Given the description of an element on the screen output the (x, y) to click on. 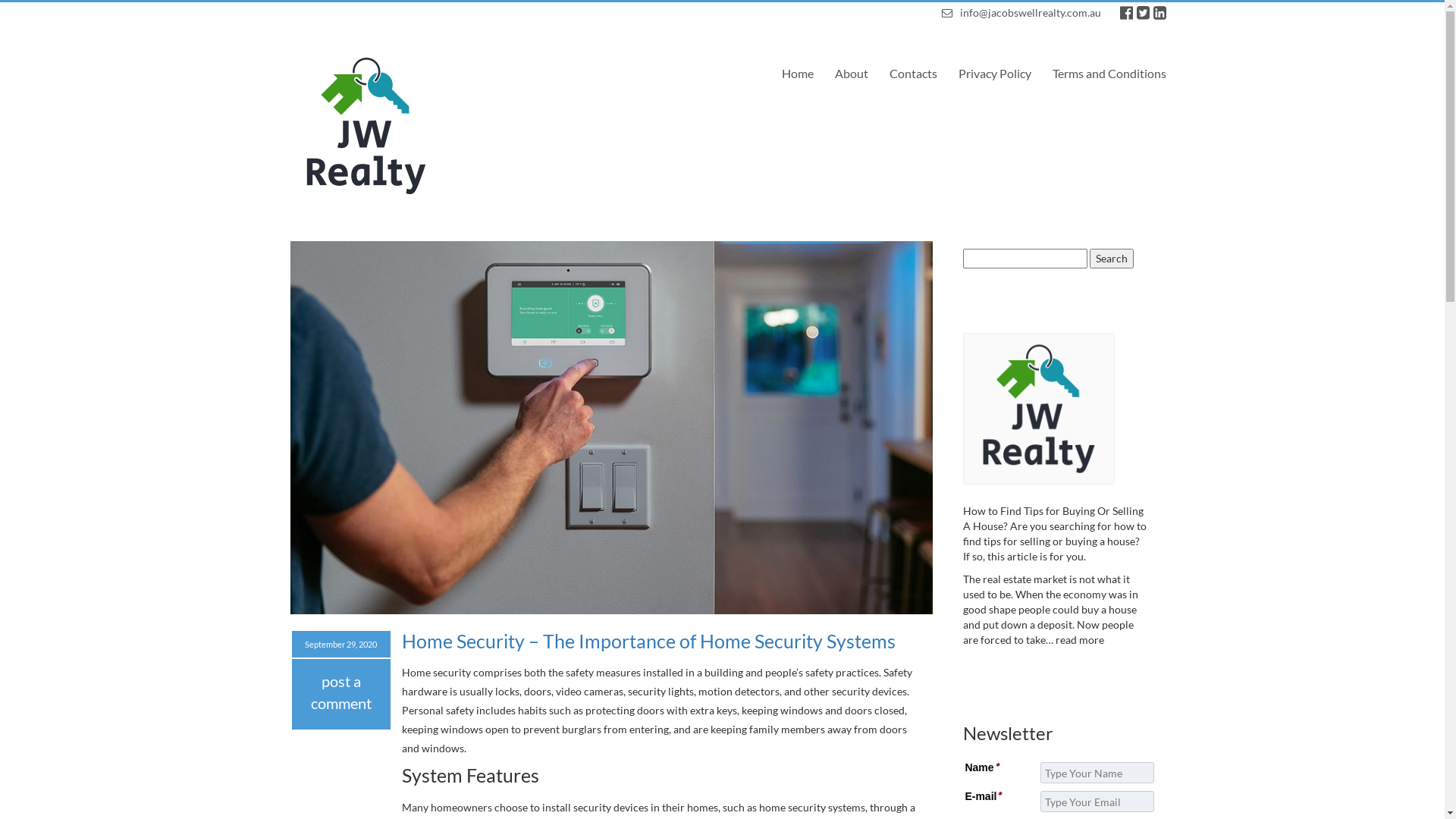
Home Element type: text (787, 72)
Search Element type: text (1111, 258)
About Element type: text (841, 72)
Privacy Policy Element type: text (984, 72)
JW Realty Element type: text (347, 219)
read more Element type: text (1079, 639)
post a comment Element type: text (340, 691)
Contacts Element type: text (903, 72)
Terms and Conditions Element type: text (1098, 72)
